Given the description of an element on the screen output the (x, y) to click on. 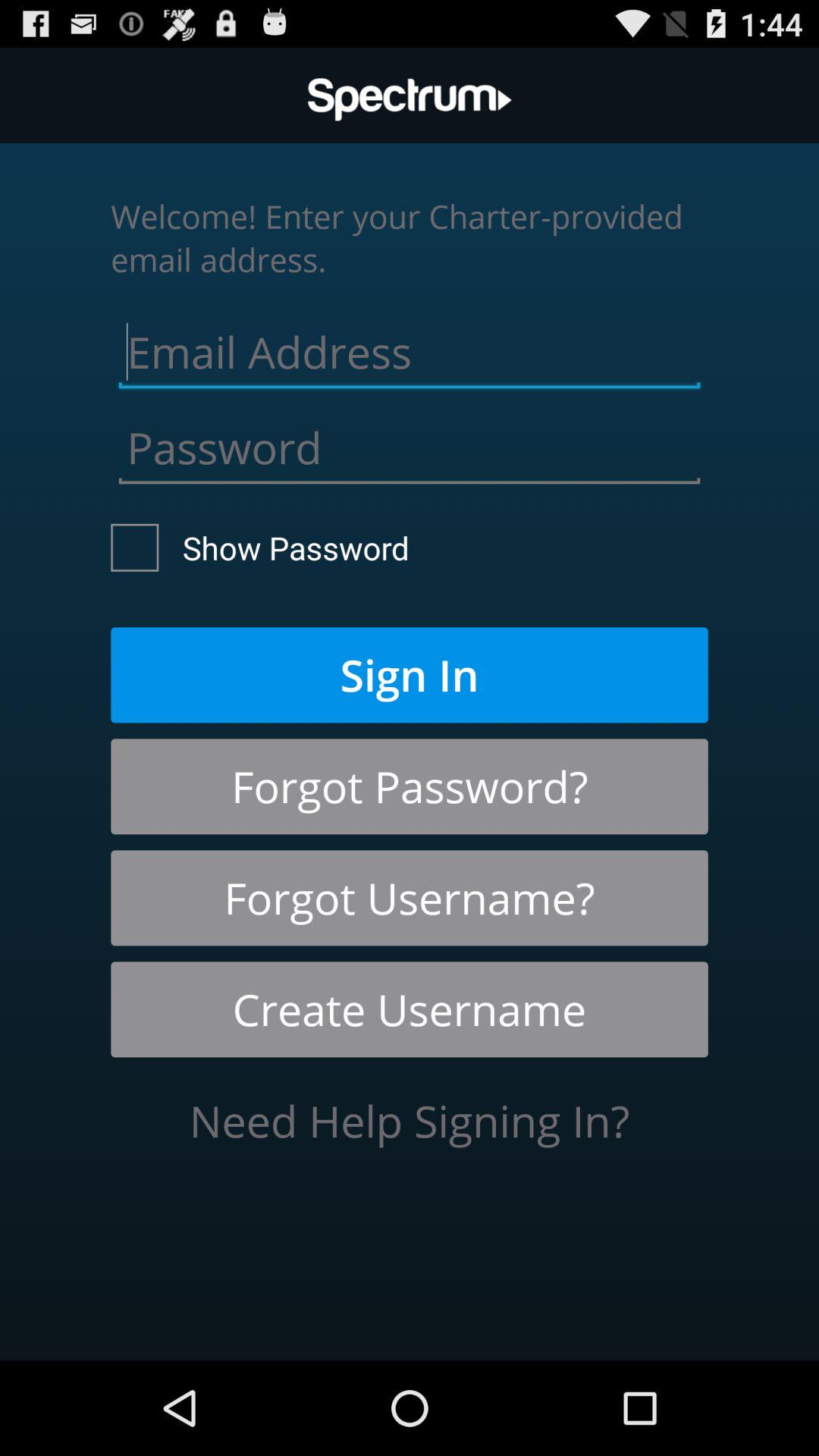
enter your e-mail address (409, 348)
